Given the description of an element on the screen output the (x, y) to click on. 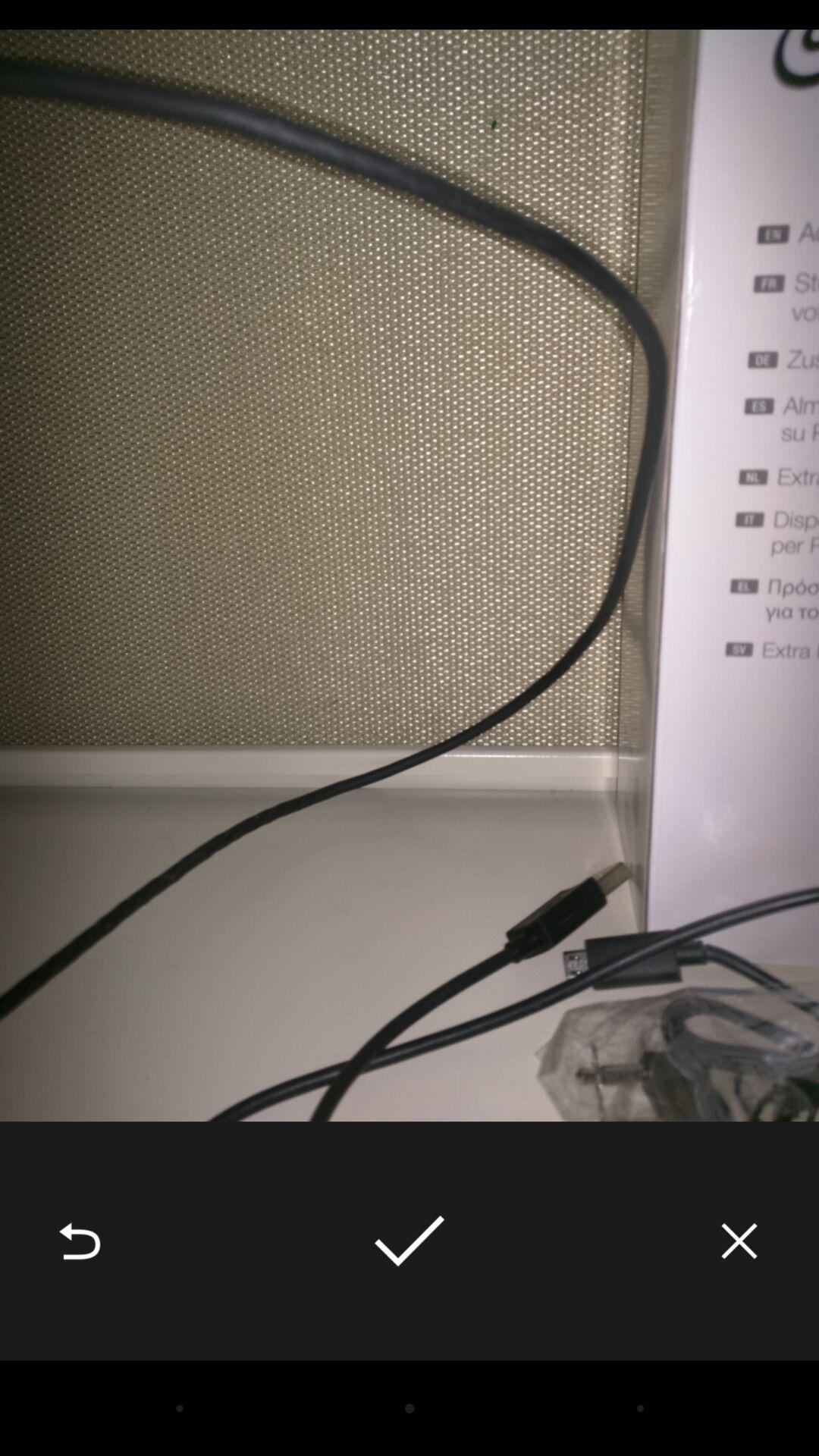
click the icon at the bottom left corner (79, 1240)
